Given the description of an element on the screen output the (x, y) to click on. 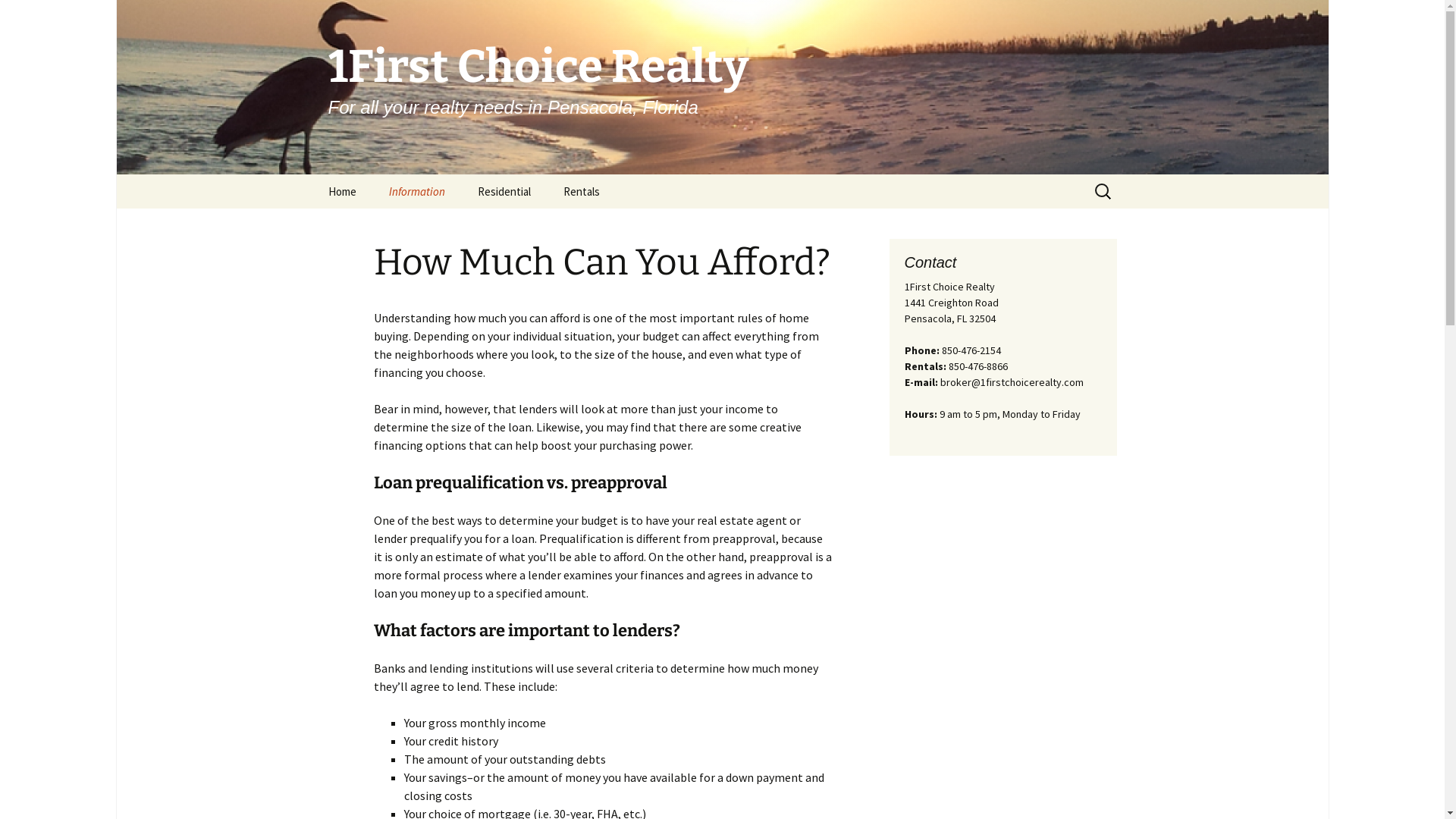
Residential Element type: text (504, 191)
Information Element type: text (416, 191)
Search Element type: text (18, 16)
Home Element type: text (341, 191)
15 Year, 30 Year, or a Biweekly Mortgage? Element type: text (448, 231)
Skip to content Element type: text (312, 173)
Rentals Element type: text (580, 191)
